Given the description of an element on the screen output the (x, y) to click on. 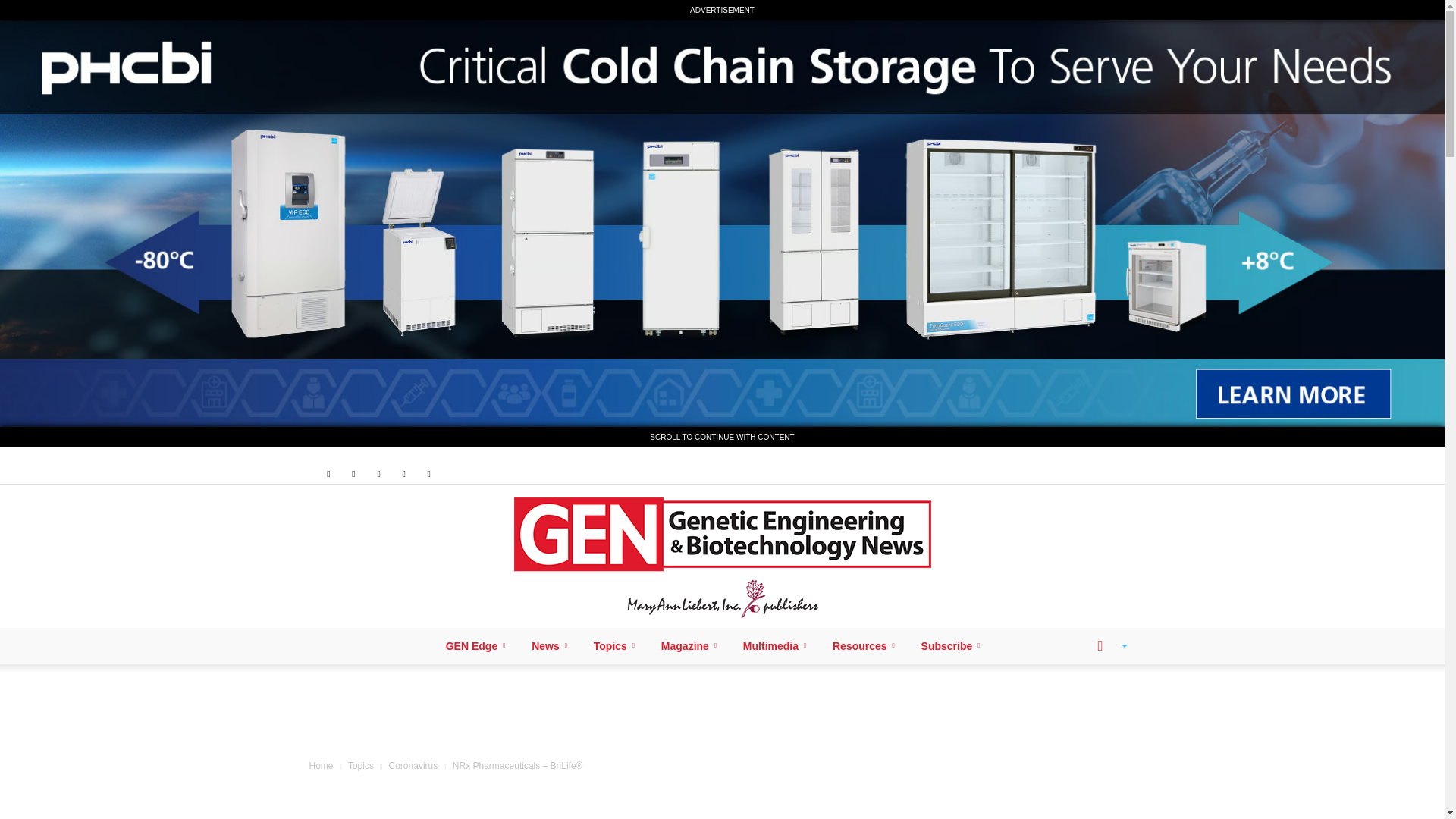
Linkedin (353, 473)
Twitter (403, 473)
Youtube (429, 473)
3rd party ad content (722, 713)
RSS (379, 473)
Facebook (328, 473)
